Given the description of an element on the screen output the (x, y) to click on. 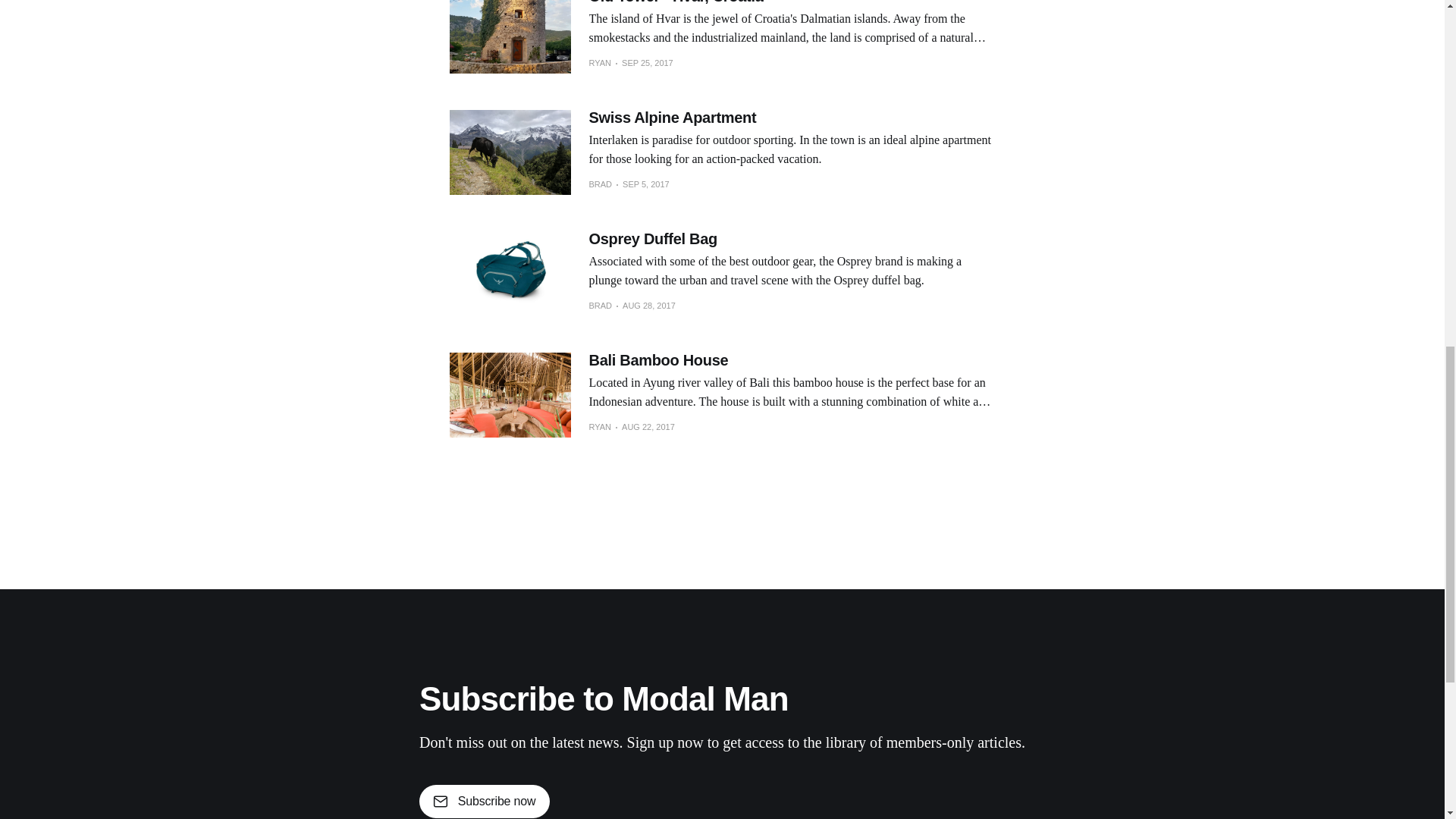
Subscribe now (484, 801)
